Given the description of an element on the screen output the (x, y) to click on. 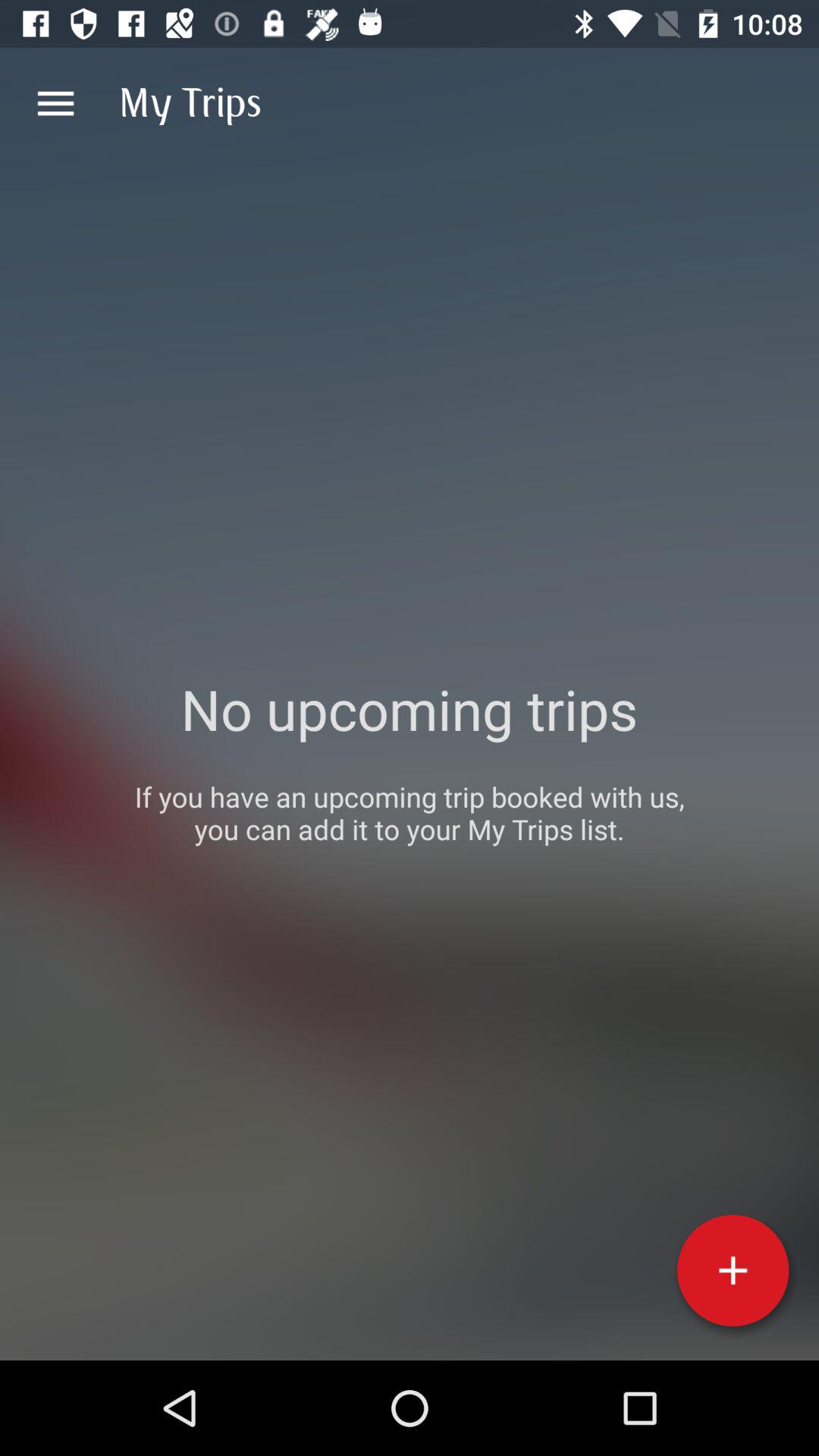
click item to the left of the my trips item (55, 103)
